Given the description of an element on the screen output the (x, y) to click on. 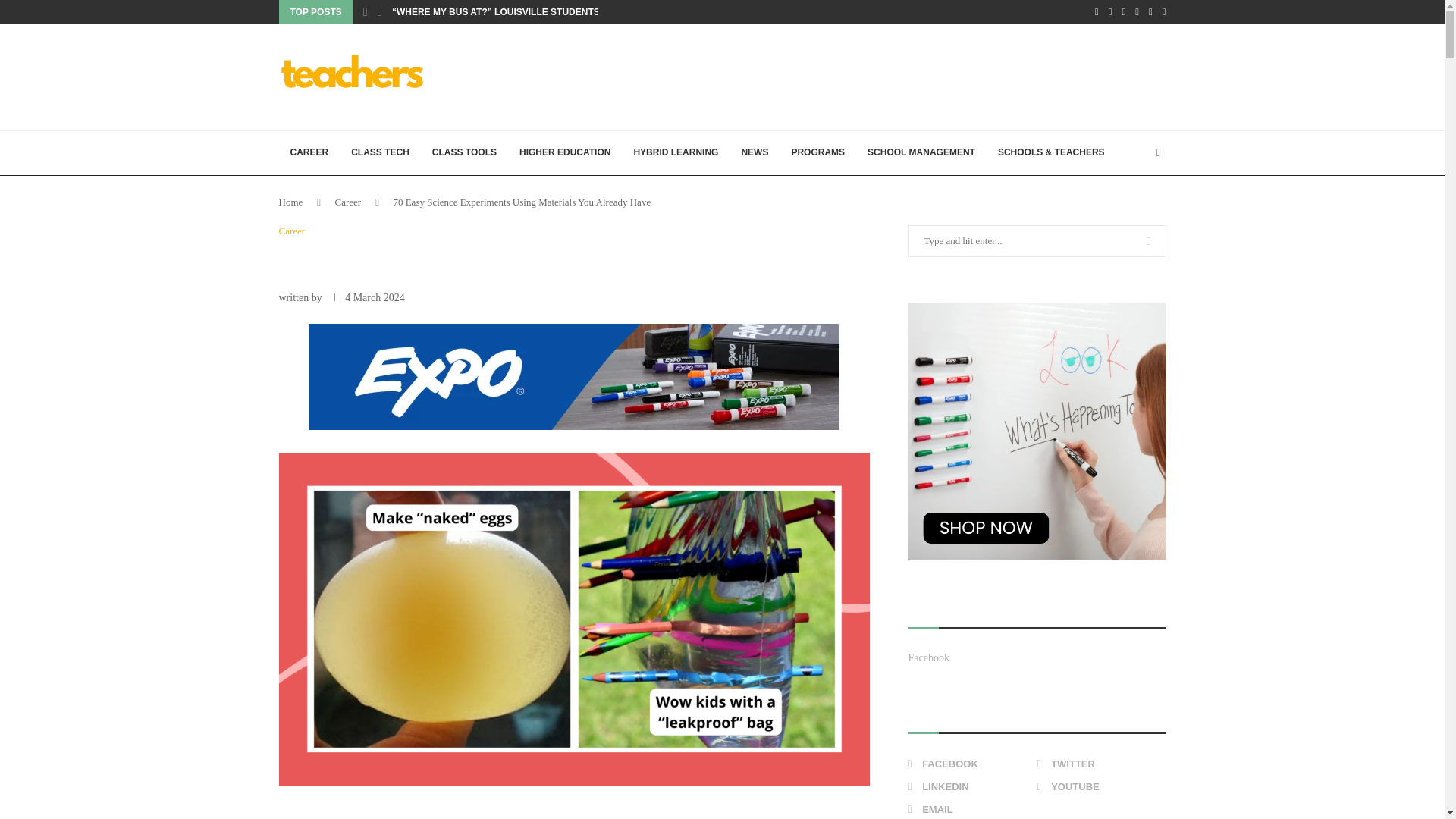
SCHOOL MANAGEMENT (921, 153)
HIGHER EDUCATION (564, 153)
PROGRAMS (817, 153)
CAREER (309, 153)
HYBRID LEARNING (675, 153)
NEWS (753, 153)
CLASS TECH (379, 153)
CLASS TOOLS (464, 153)
